Given the description of an element on the screen output the (x, y) to click on. 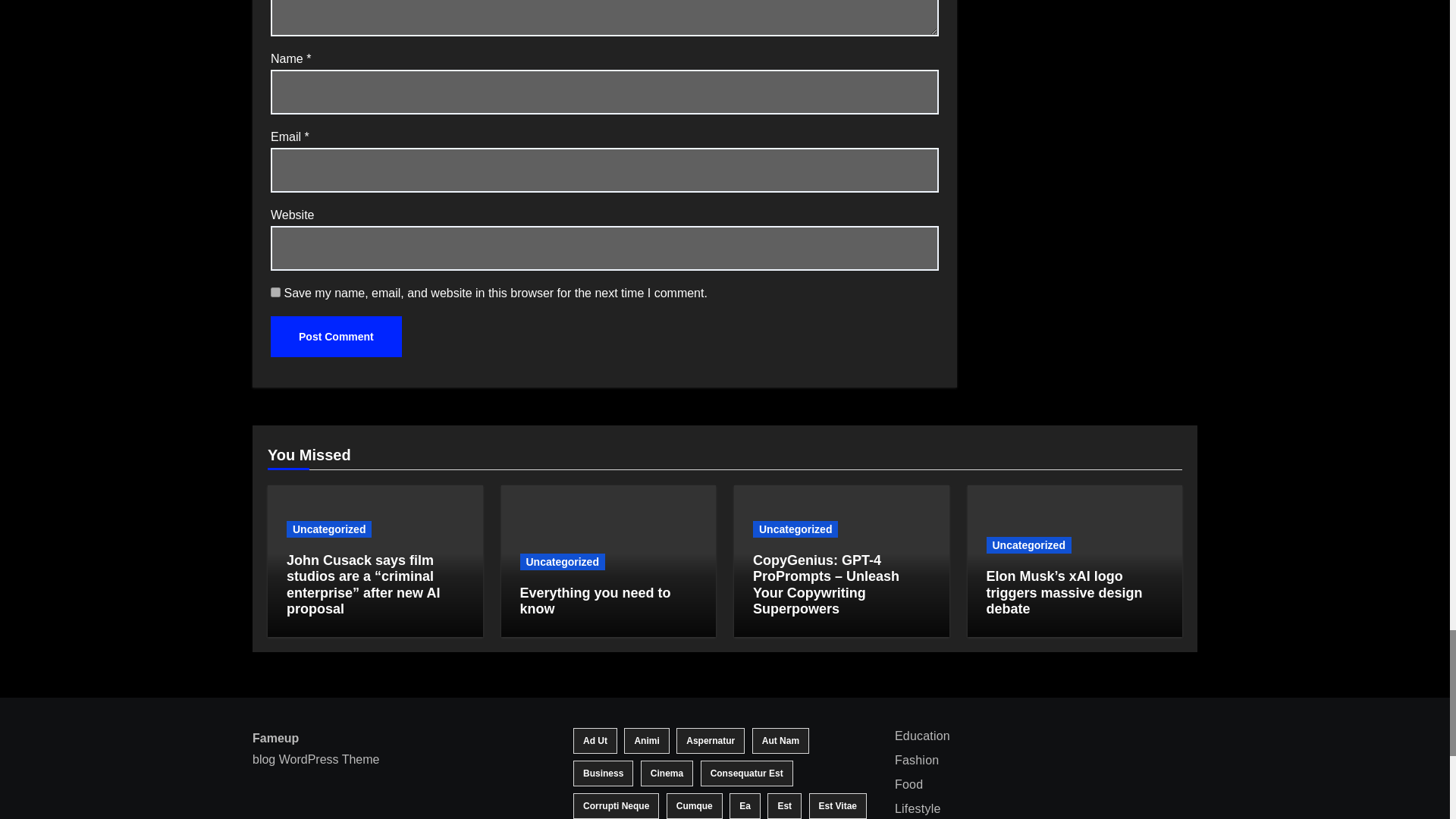
Post Comment (335, 336)
yes (275, 292)
Permalink to: Everything you need to know (595, 601)
